Given the description of an element on the screen output the (x, y) to click on. 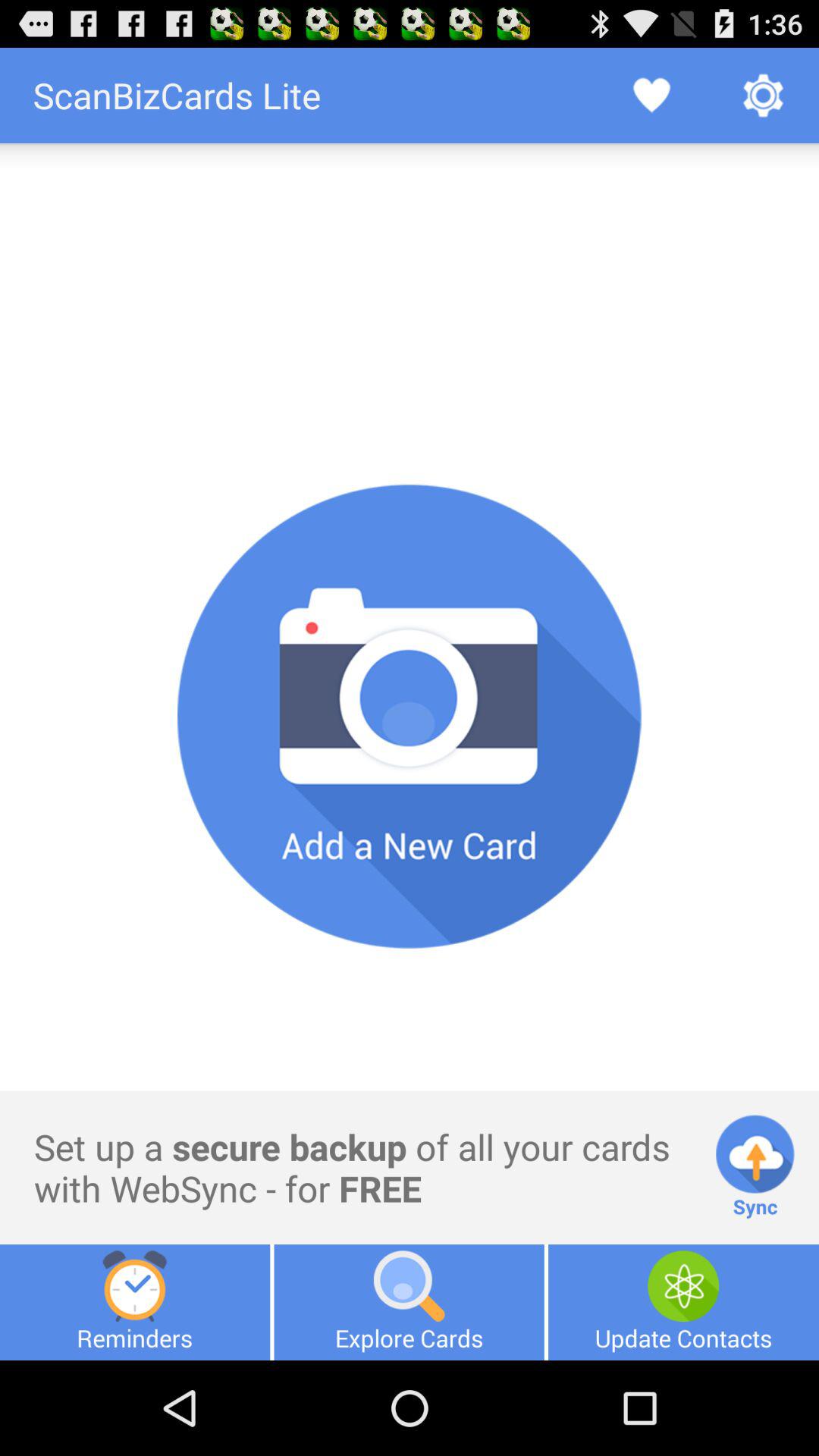
select app below the set up a app (409, 1302)
